Given the description of an element on the screen output the (x, y) to click on. 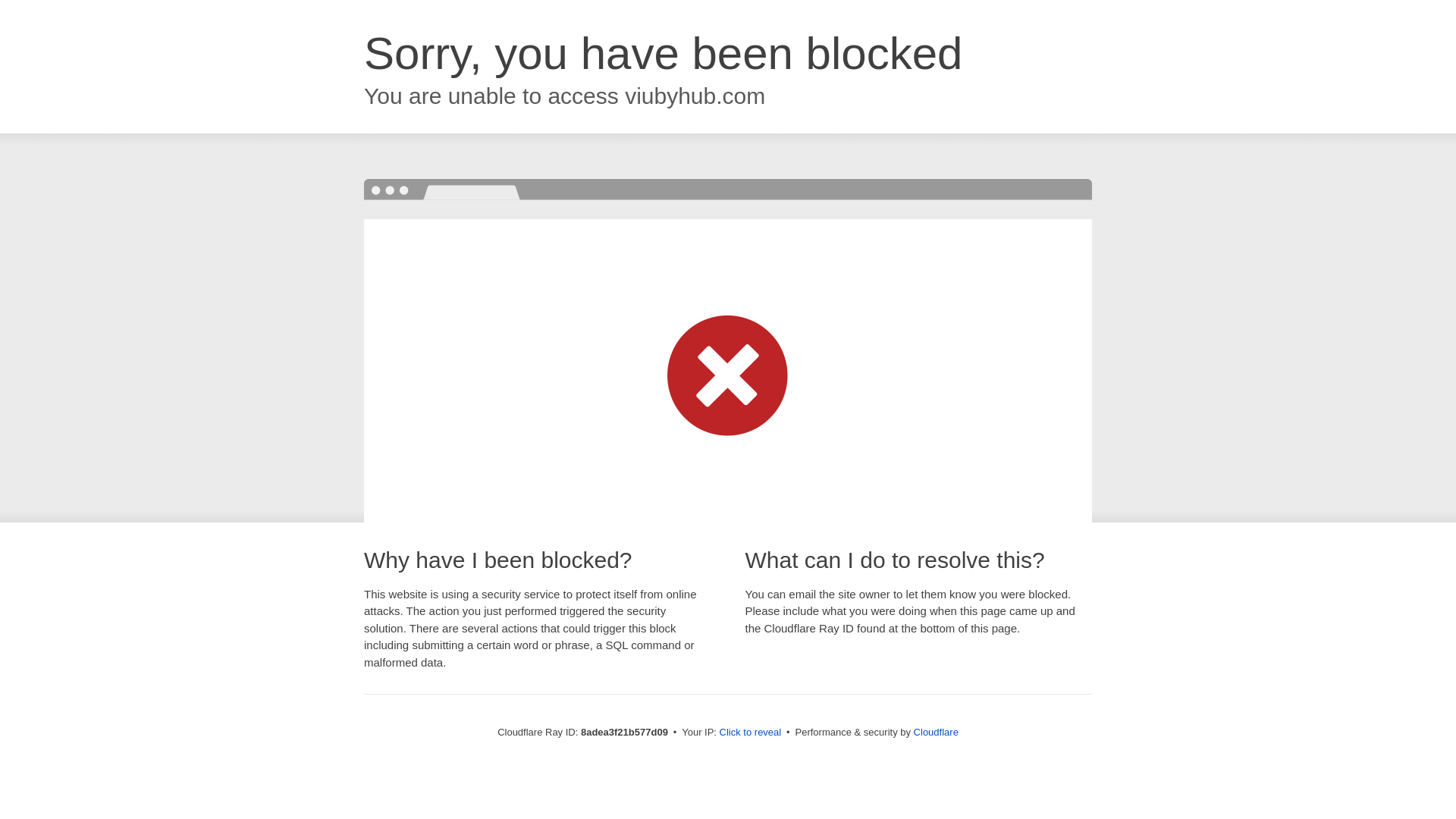
Cloudflare (936, 731)
Click to reveal (750, 732)
